Given the description of an element on the screen output the (x, y) to click on. 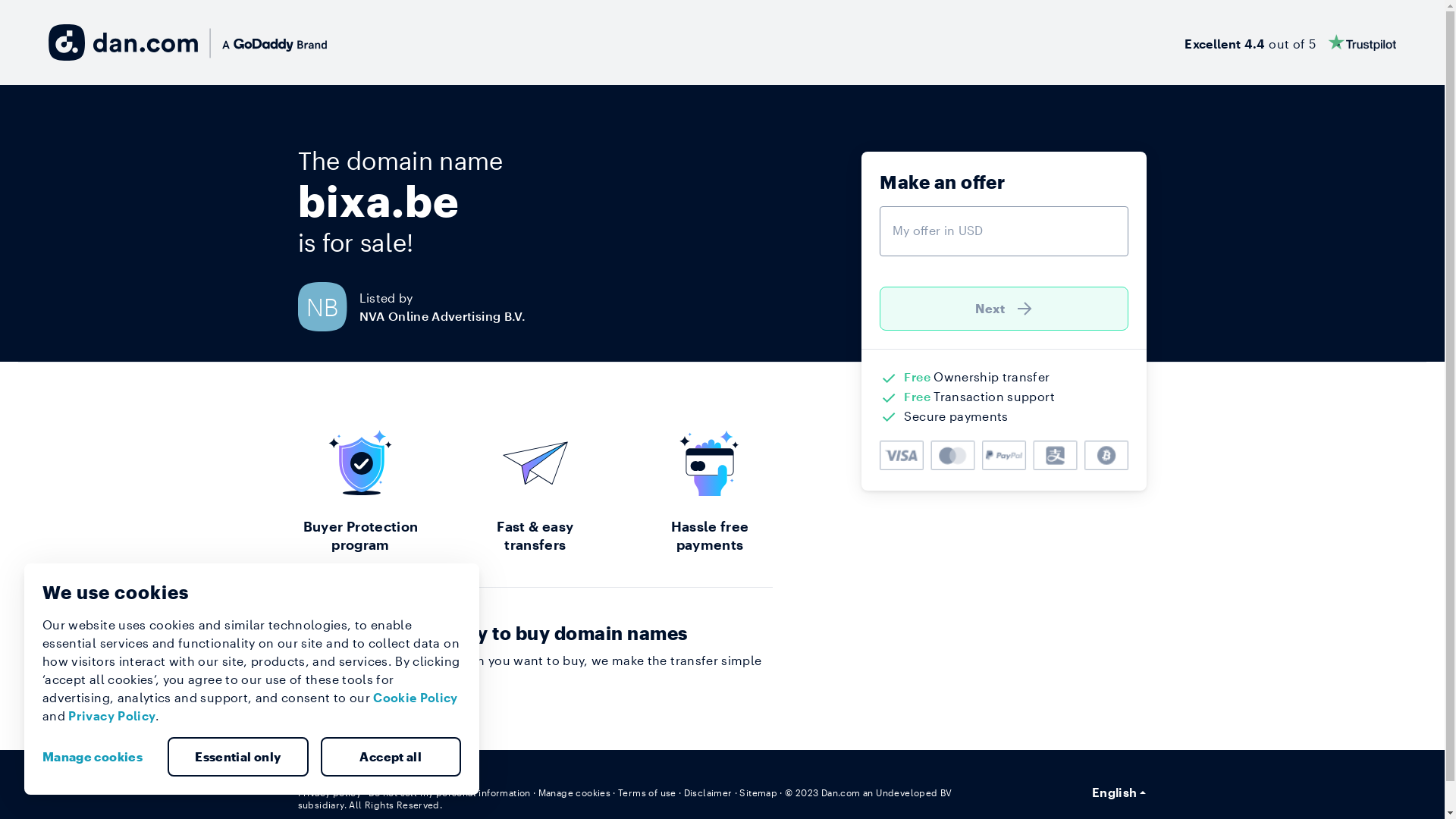
Terms of use Element type: text (647, 792)
Do not sell my personal information Element type: text (449, 792)
Excellent 4.4 out of 5 Element type: text (1290, 42)
Disclaimer Element type: text (708, 792)
Cookie Policy Element type: text (415, 697)
Accept all Element type: text (390, 756)
Manage cookies Element type: text (98, 756)
Sitemap Element type: text (758, 792)
Privacy Policy Element type: text (111, 715)
Next
) Element type: text (1003, 308)
Essential only Element type: text (237, 756)
English Element type: text (1119, 792)
Privacy policy Element type: text (328, 792)
Manage cookies Element type: text (574, 792)
